Given the description of an element on the screen output the (x, y) to click on. 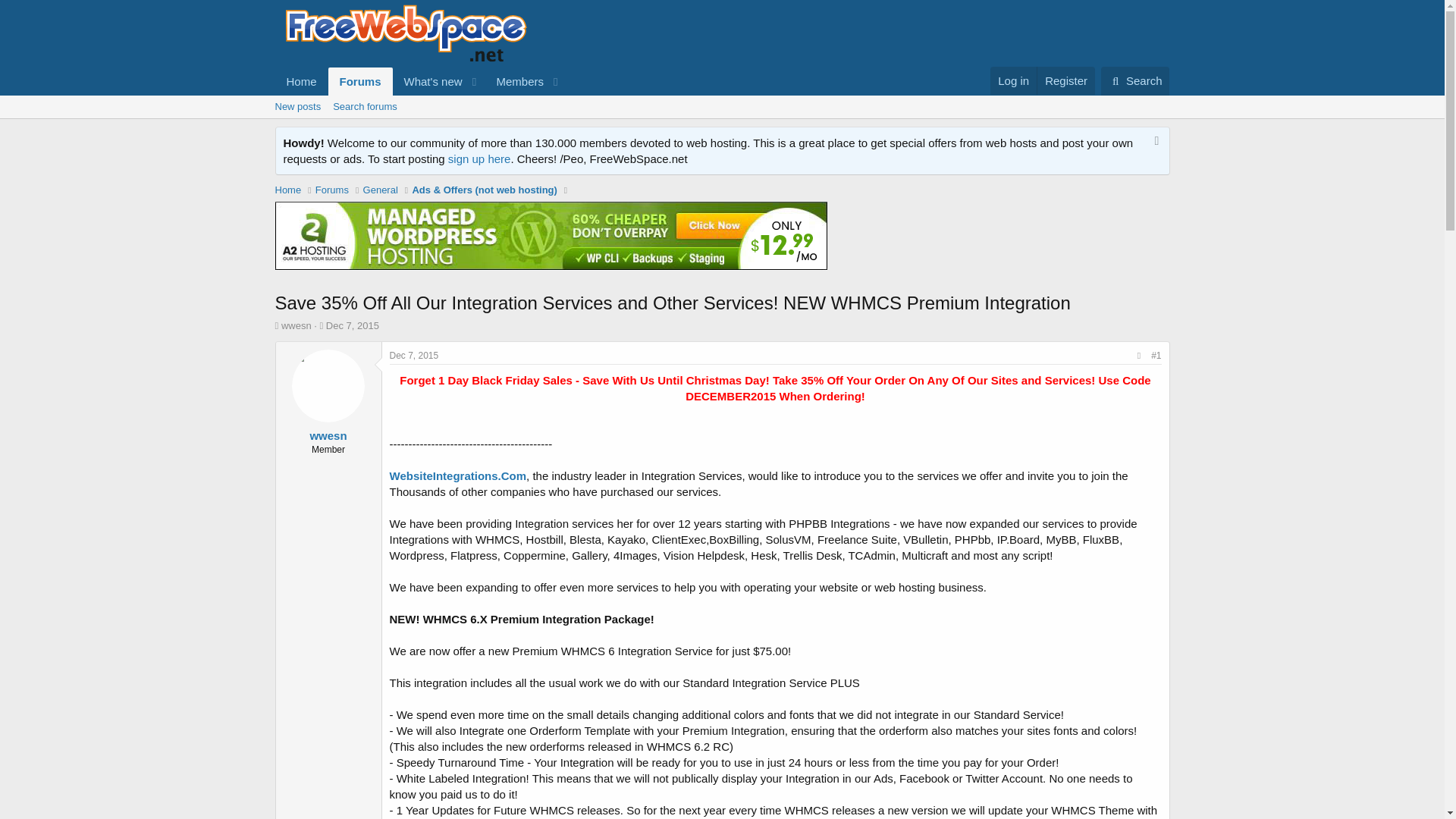
Log in (1013, 80)
managed wordpress hosting (551, 236)
New posts (296, 106)
sign up here (479, 158)
Dec 7, 2015 at 10:12 PM (352, 325)
Home (301, 81)
General (379, 190)
Register (1065, 80)
Search (419, 81)
